Given the description of an element on the screen output the (x, y) to click on. 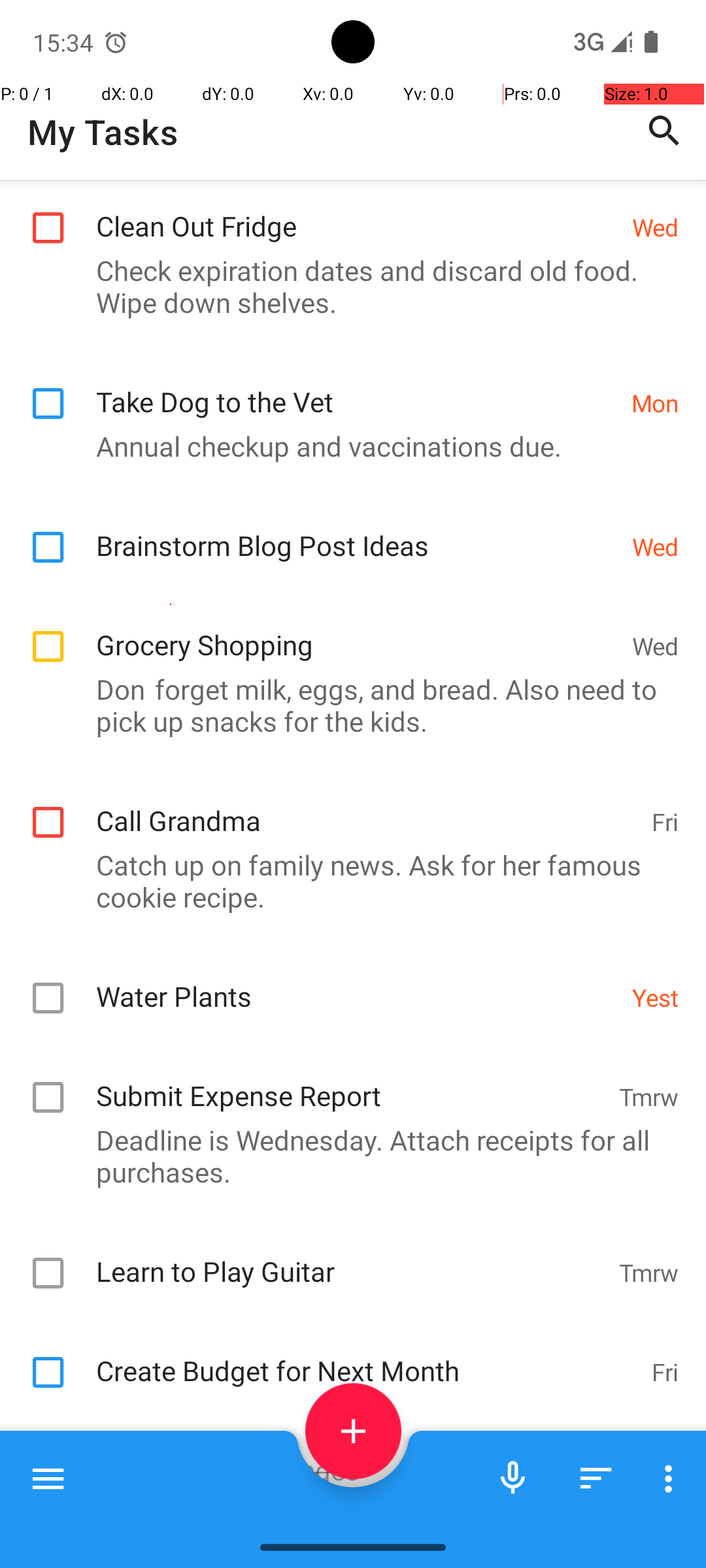
Review code changes Element type: android.widget.TextView (360, 1455)
